Given the description of an element on the screen output the (x, y) to click on. 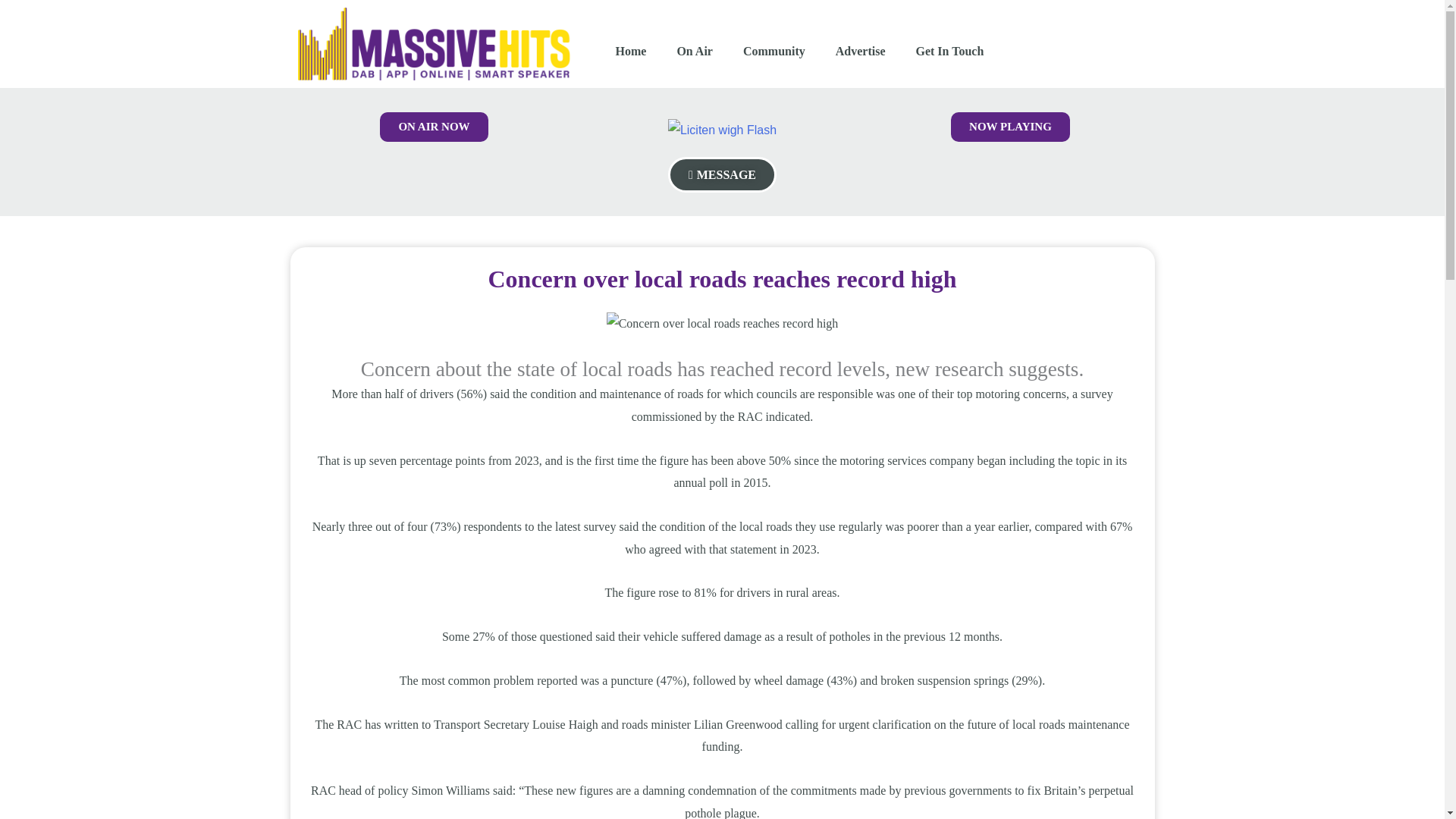
Community (774, 51)
ON AIR NOW (433, 126)
MESSAGE (722, 174)
Home (630, 51)
Get In Touch (948, 51)
Advertise (861, 51)
On Air (694, 51)
NOW PLAYING (1010, 126)
